Given the description of an element on the screen output the (x, y) to click on. 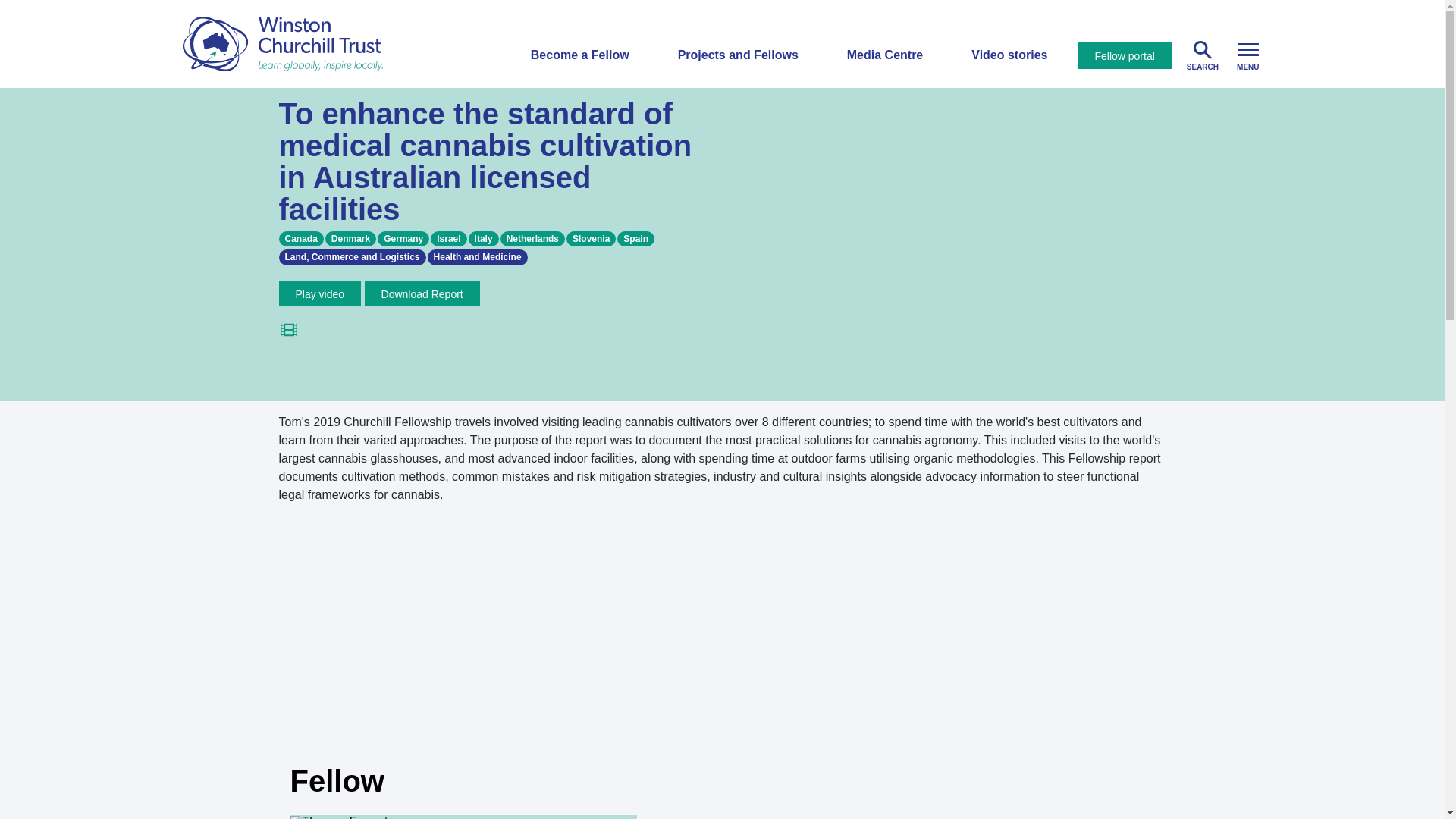
Video stories (1008, 54)
MENU (1247, 54)
Download Report (422, 293)
Media Centre (885, 54)
Become a Fellow (579, 54)
Projects and Fellows (737, 54)
SEARCH (1202, 54)
Play video (320, 293)
Fellow portal (1123, 55)
